Given the description of an element on the screen output the (x, y) to click on. 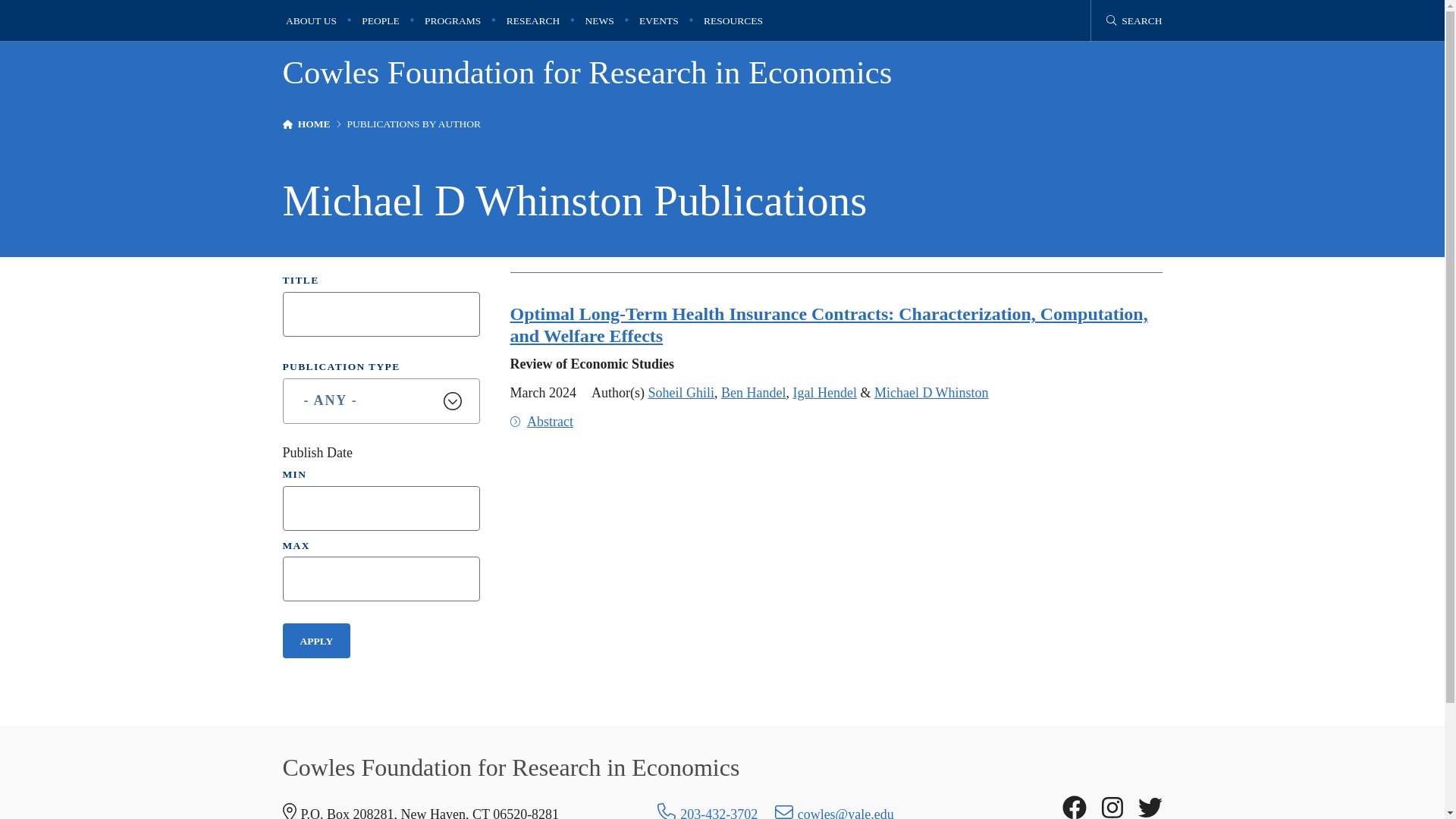
Cowles Foundation for Research in Economics (586, 72)
NEWS (598, 20)
Twitter (1149, 807)
Apply (316, 640)
Apply (316, 640)
SEARCH (1133, 20)
HOME (314, 123)
Facebook (1074, 807)
Instagram (1112, 807)
